Given the description of an element on the screen output the (x, y) to click on. 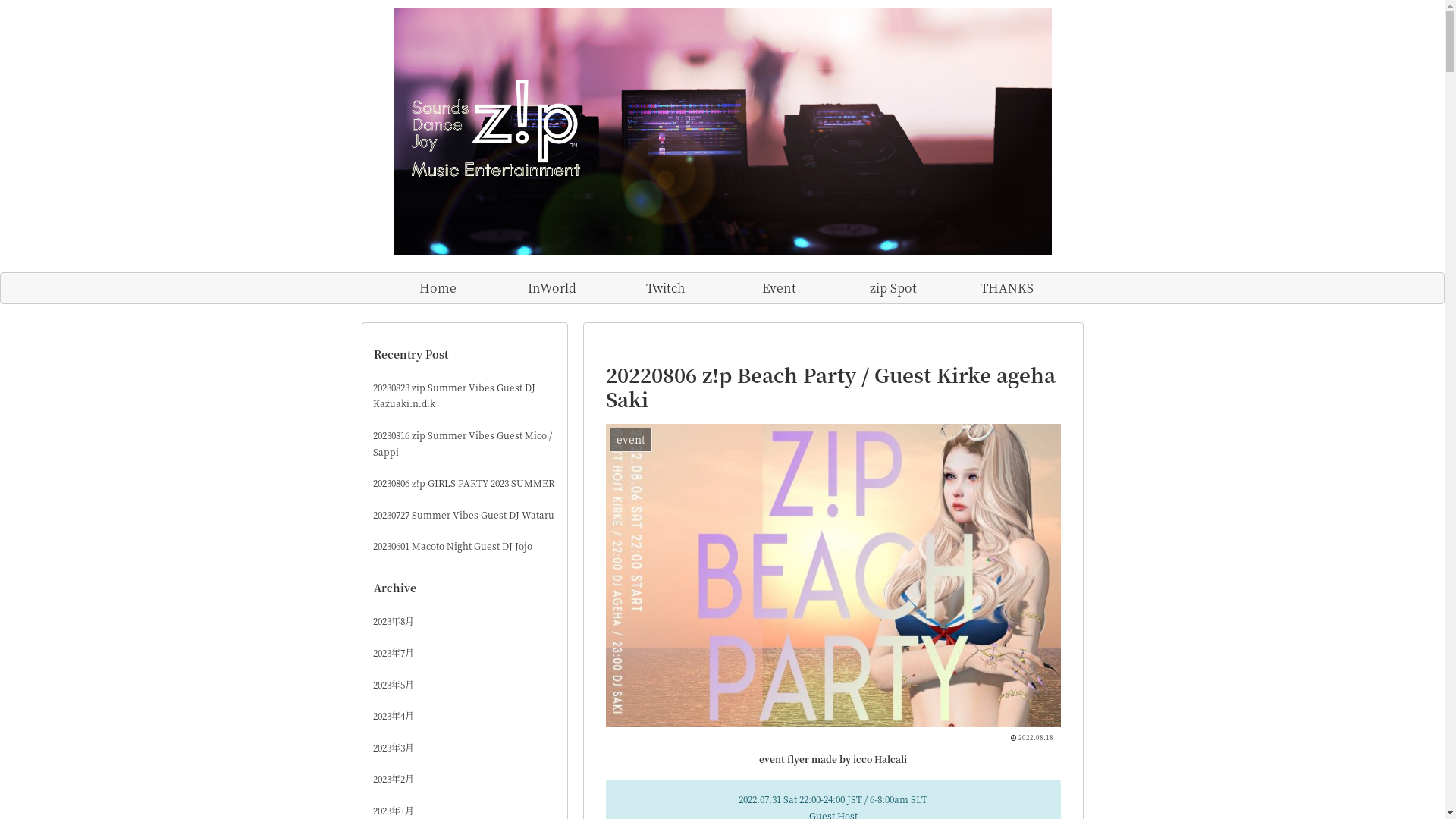
THANKS Element type: text (1006, 288)
20230601 Macoto Night Guest DJ Jojo Element type: text (464, 545)
Event Element type: text (778, 288)
20230727 Summer Vibes Guest DJ Wataru Element type: text (464, 514)
InWorld Element type: text (551, 288)
Home Element type: text (437, 288)
20230806 z!p GIRLS PARTY 2023 SUMMER Element type: text (464, 482)
20230816 zip Summer Vibes Guest Mico / Sappi Element type: text (464, 443)
zip Spot Element type: text (892, 288)
Twitch Element type: text (664, 288)
20230823 zip Summer Vibes Guest DJ Kazuaki.n.d.k Element type: text (464, 395)
